Given the description of an element on the screen output the (x, y) to click on. 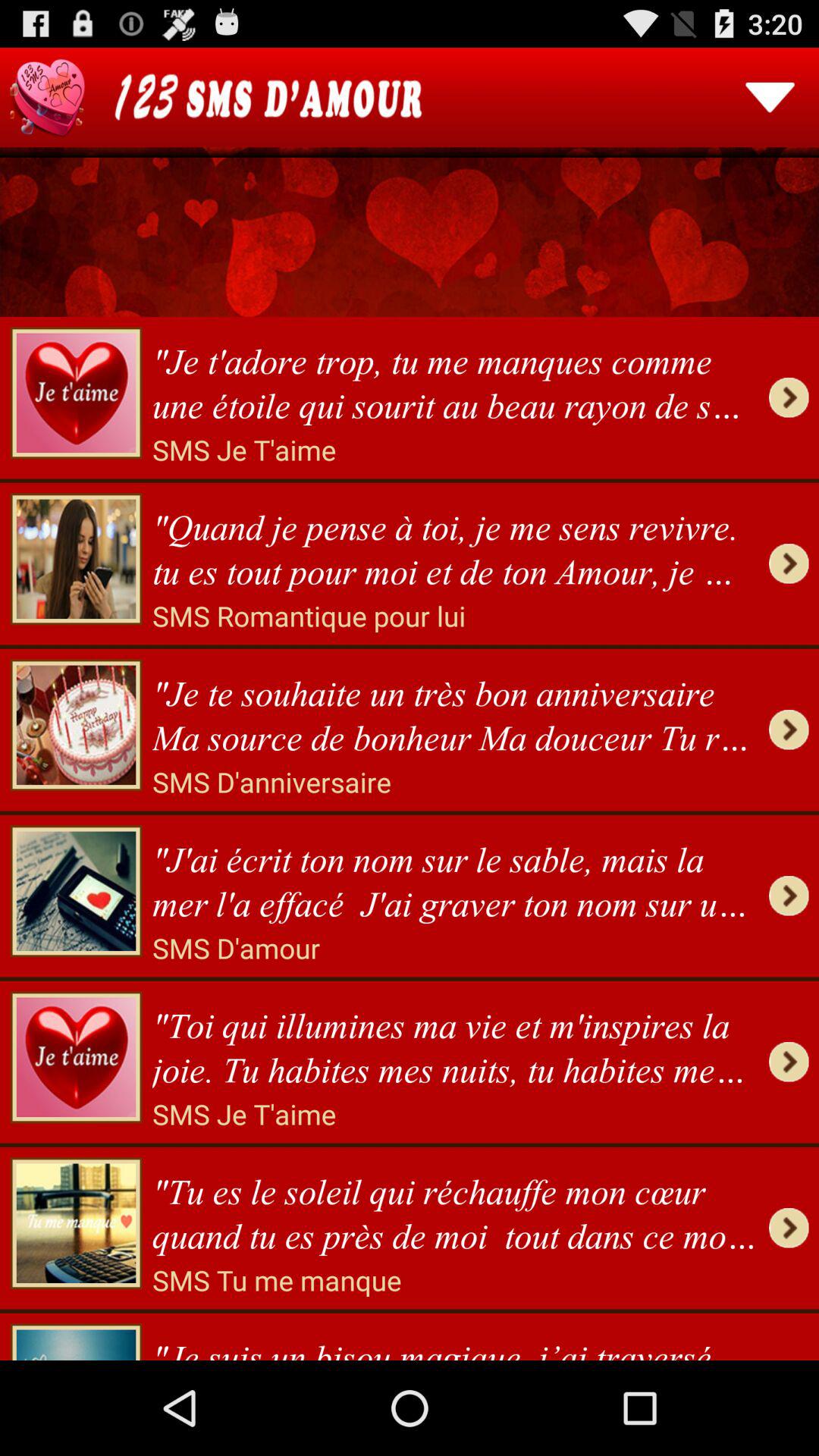
launch sms romantique pour icon (308, 615)
